Given the description of an element on the screen output the (x, y) to click on. 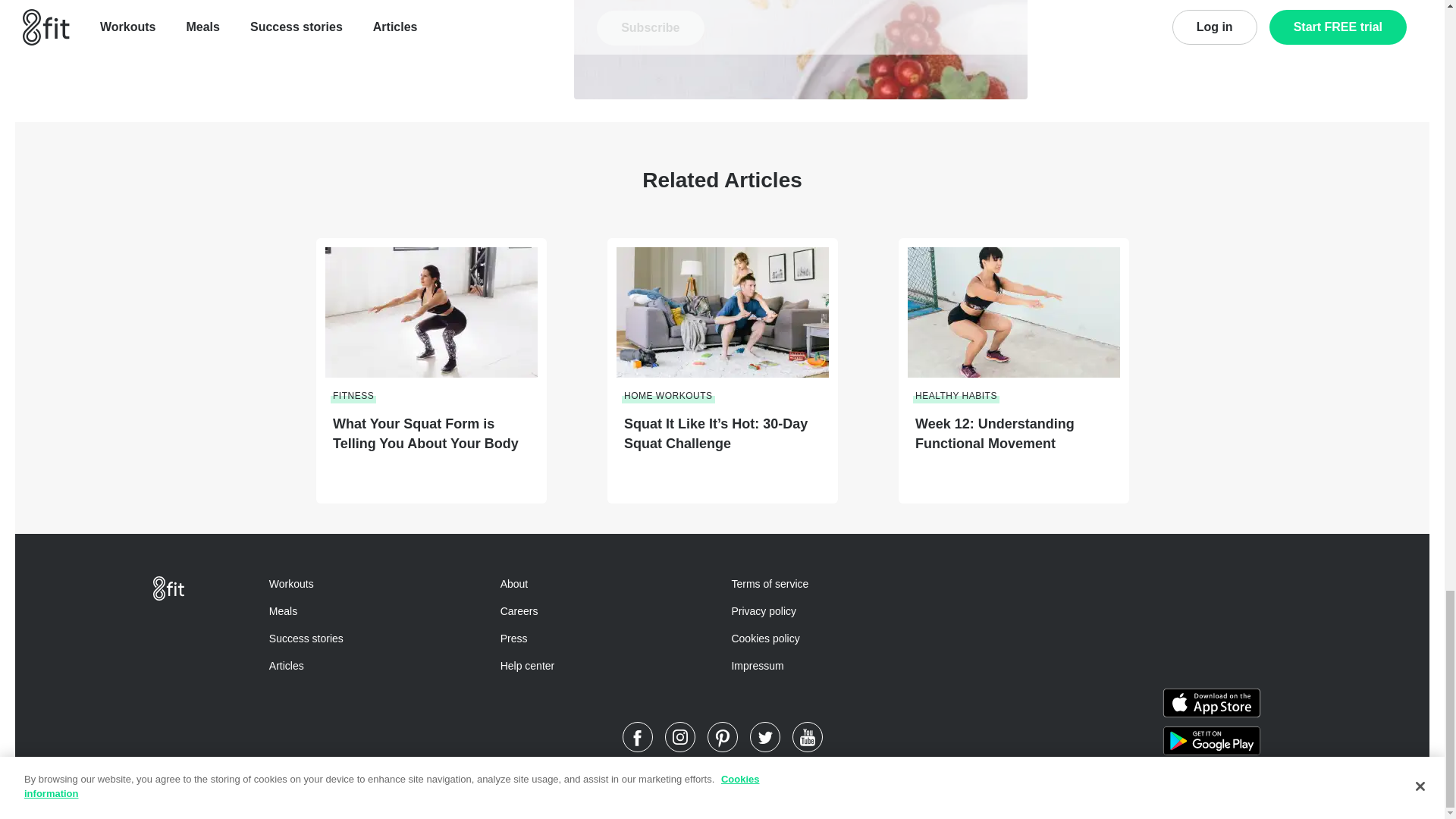
About (514, 583)
HEALTHY HABITS (954, 395)
FITNESS (351, 395)
Careers (519, 611)
Subscribe (649, 27)
Articles (286, 665)
HOME WORKOUTS (667, 395)
Success stories (306, 638)
Week 12: Understanding Functional Movement (1016, 433)
Help center (527, 665)
